Given the description of an element on the screen output the (x, y) to click on. 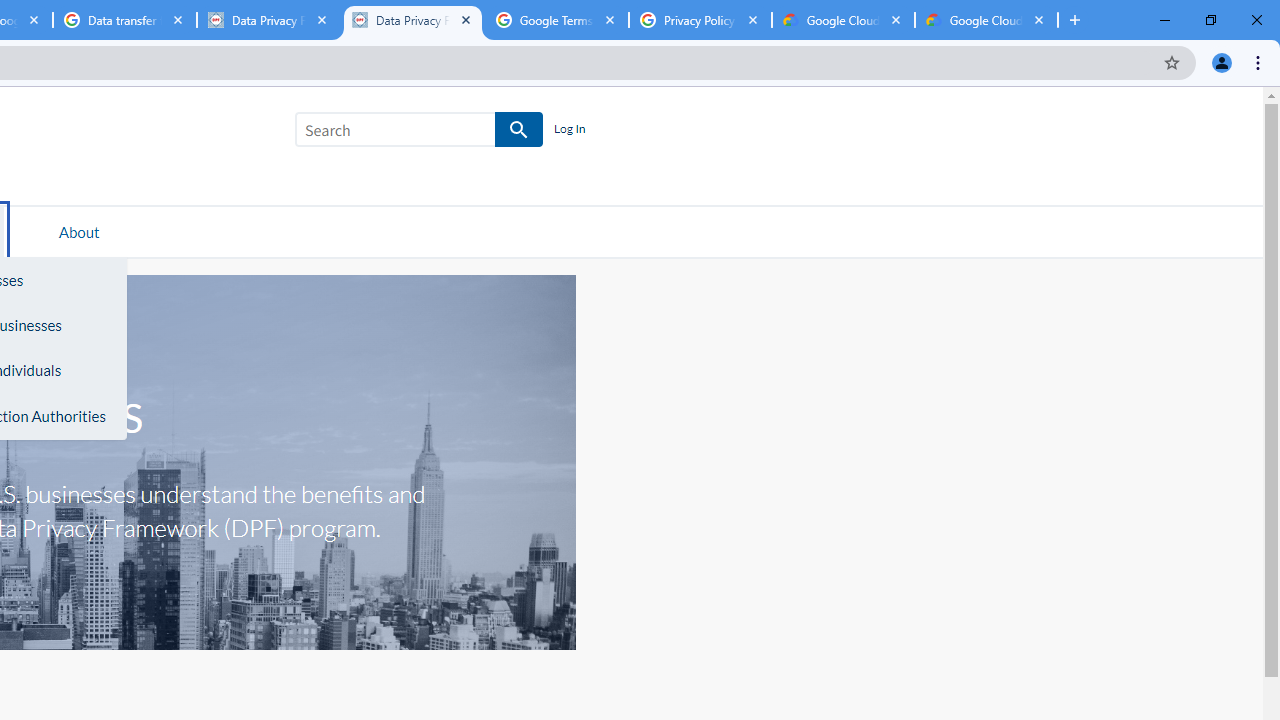
AutomationID: navitem2 (79, 231)
Data Privacy Framework (412, 20)
Search SEARCH (419, 133)
